Given the description of an element on the screen output the (x, y) to click on. 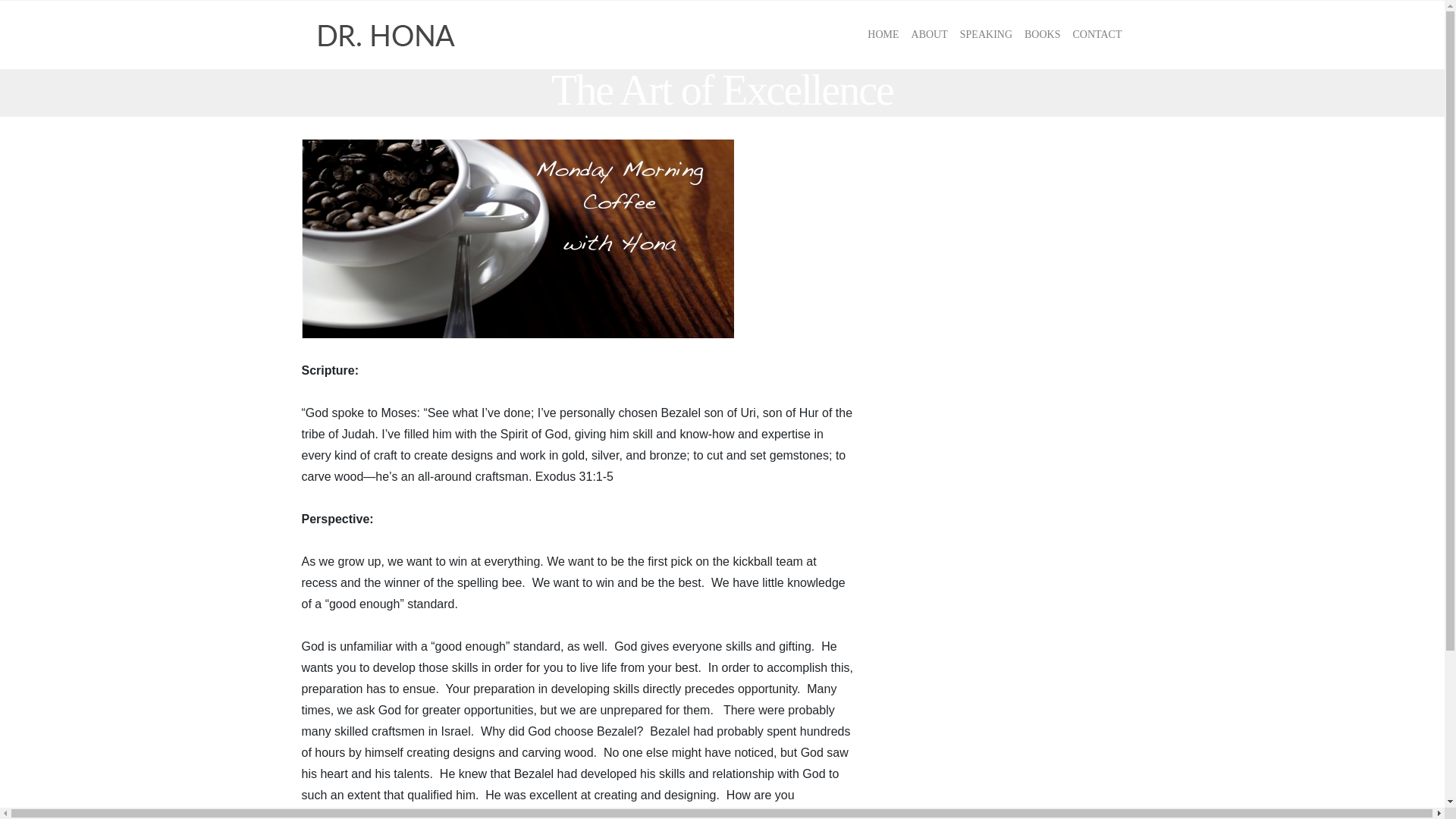
Speaking (985, 34)
CONTACT (1095, 34)
Contact (1095, 34)
SPEAKING (985, 34)
coffeeheader (518, 239)
Dr. Hona Amer (386, 34)
